Given the description of an element on the screen output the (x, y) to click on. 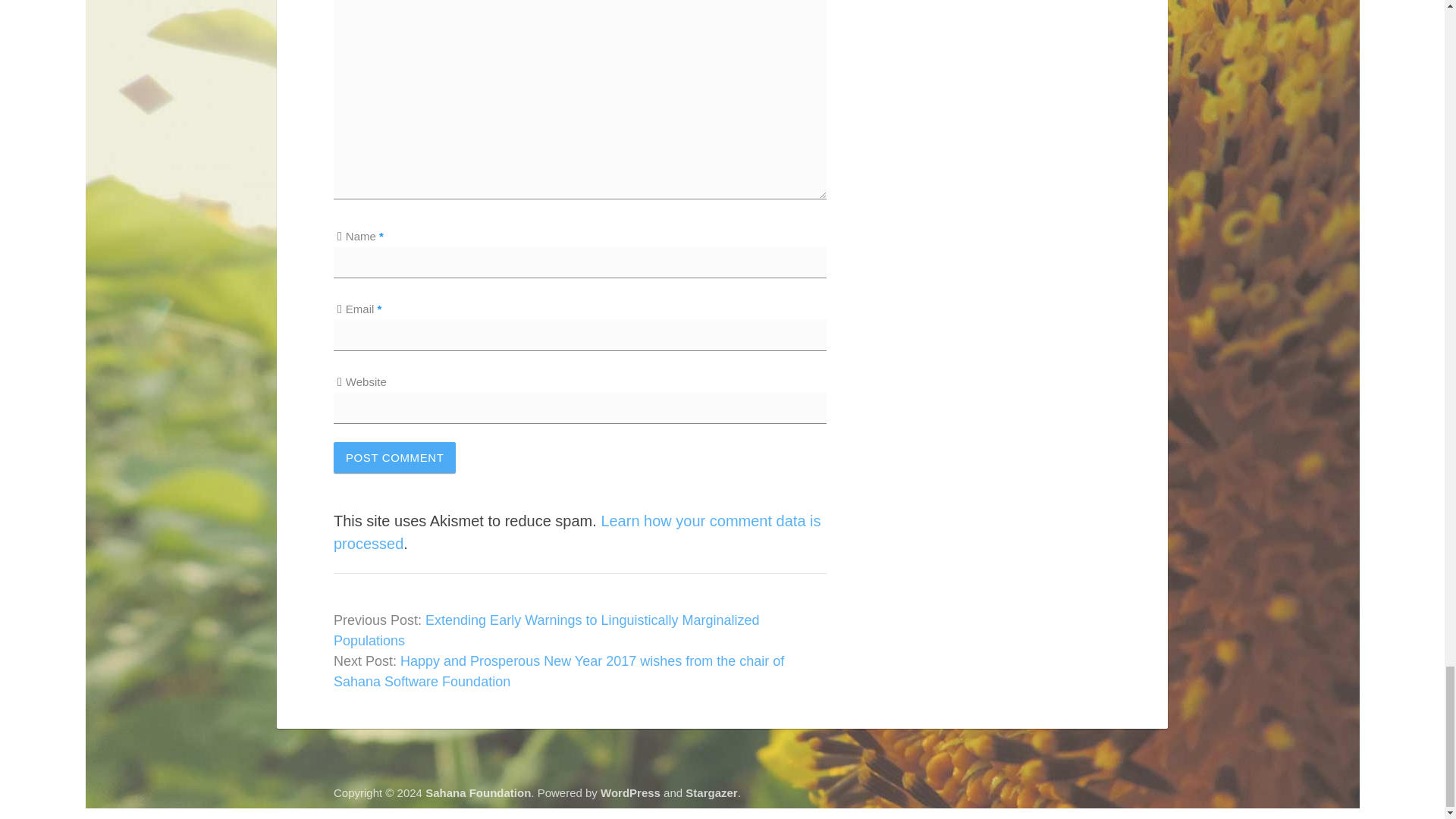
Post Comment (394, 457)
